Given the description of an element on the screen output the (x, y) to click on. 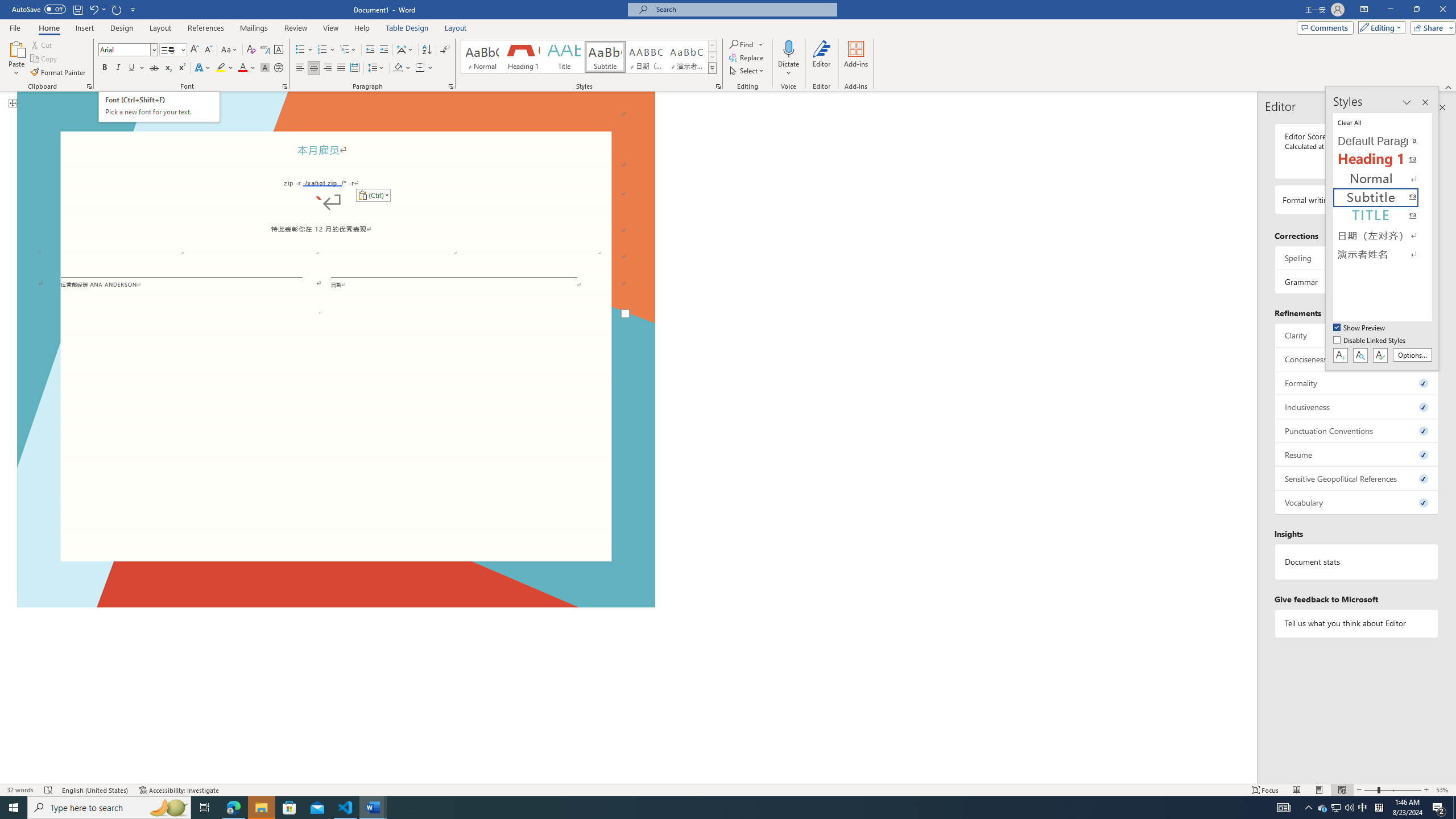
Clear All (1382, 122)
